Given the description of an element on the screen output the (x, y) to click on. 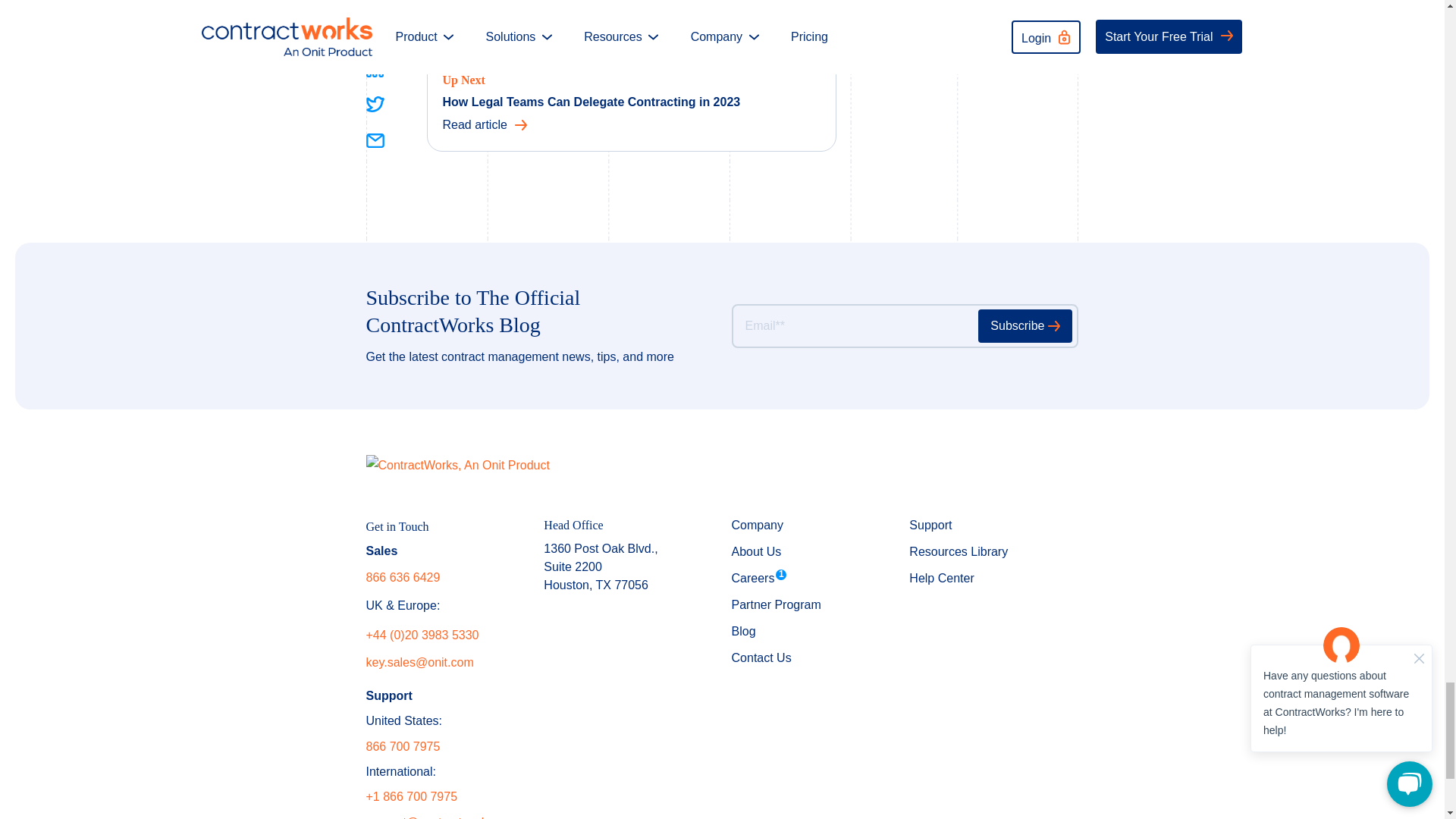
Subscribe (1024, 326)
Download Now (517, 3)
